Given the description of an element on the screen output the (x, y) to click on. 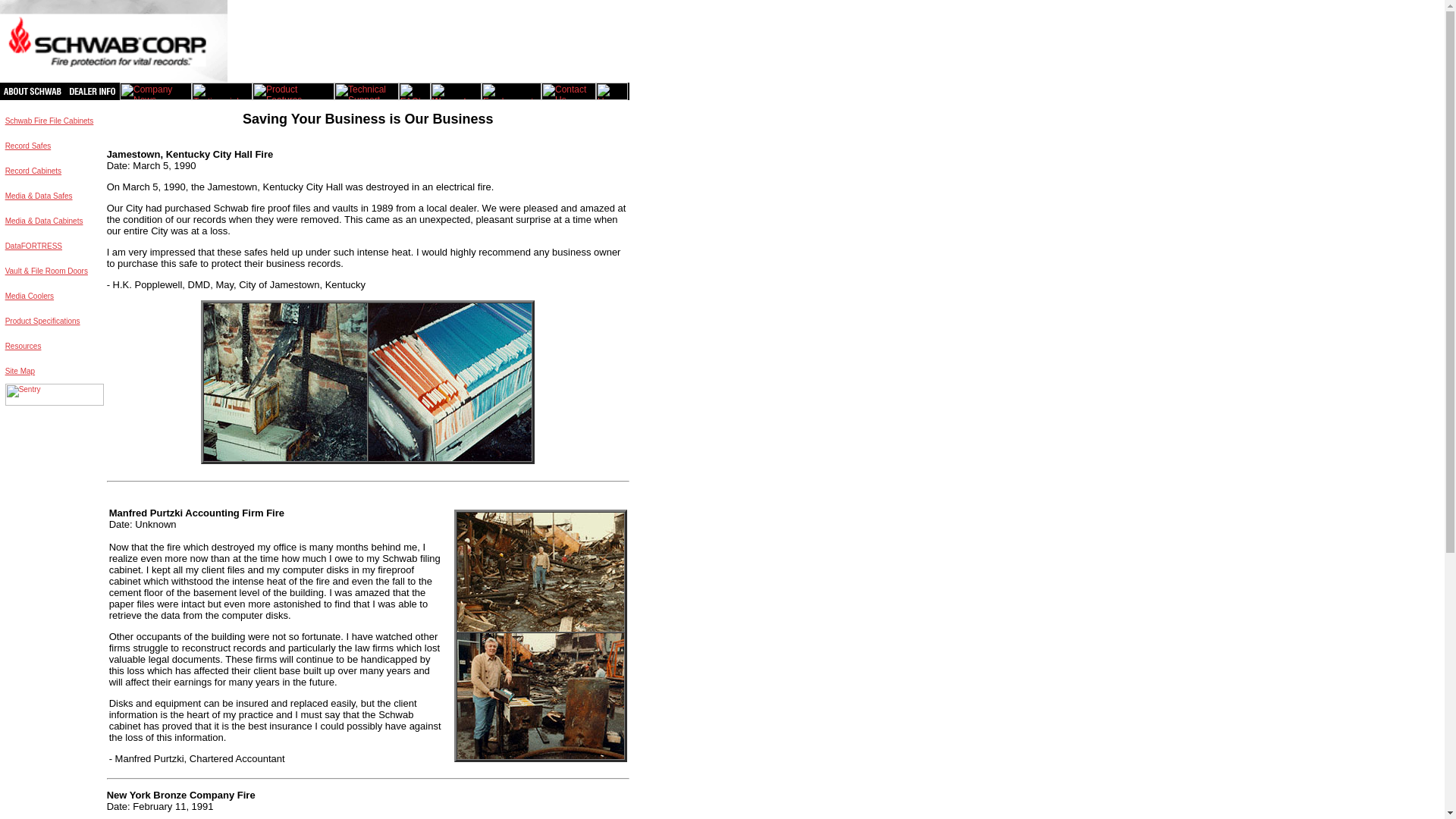
Product Specifications (42, 324)
Vault Safe File Room Doors (29, 308)
Product Dimensions, Specifications and Ratings (42, 324)
Media Data Safe (38, 195)
DataFORTRESS Media Data Safe Vault (33, 245)
Fire Resistant Record Safe (27, 158)
DataFORTRESS (33, 245)
Vault Safe File Room Doors (46, 270)
Site Map (19, 375)
Fire Resistant Record Safe (27, 145)
Record Storage Cabinet (33, 175)
Schwab Safe Site Map (19, 375)
Helpful Industry Resources (23, 346)
Media Data Safe (38, 220)
Record Safes (27, 145)
